Given the description of an element on the screen output the (x, y) to click on. 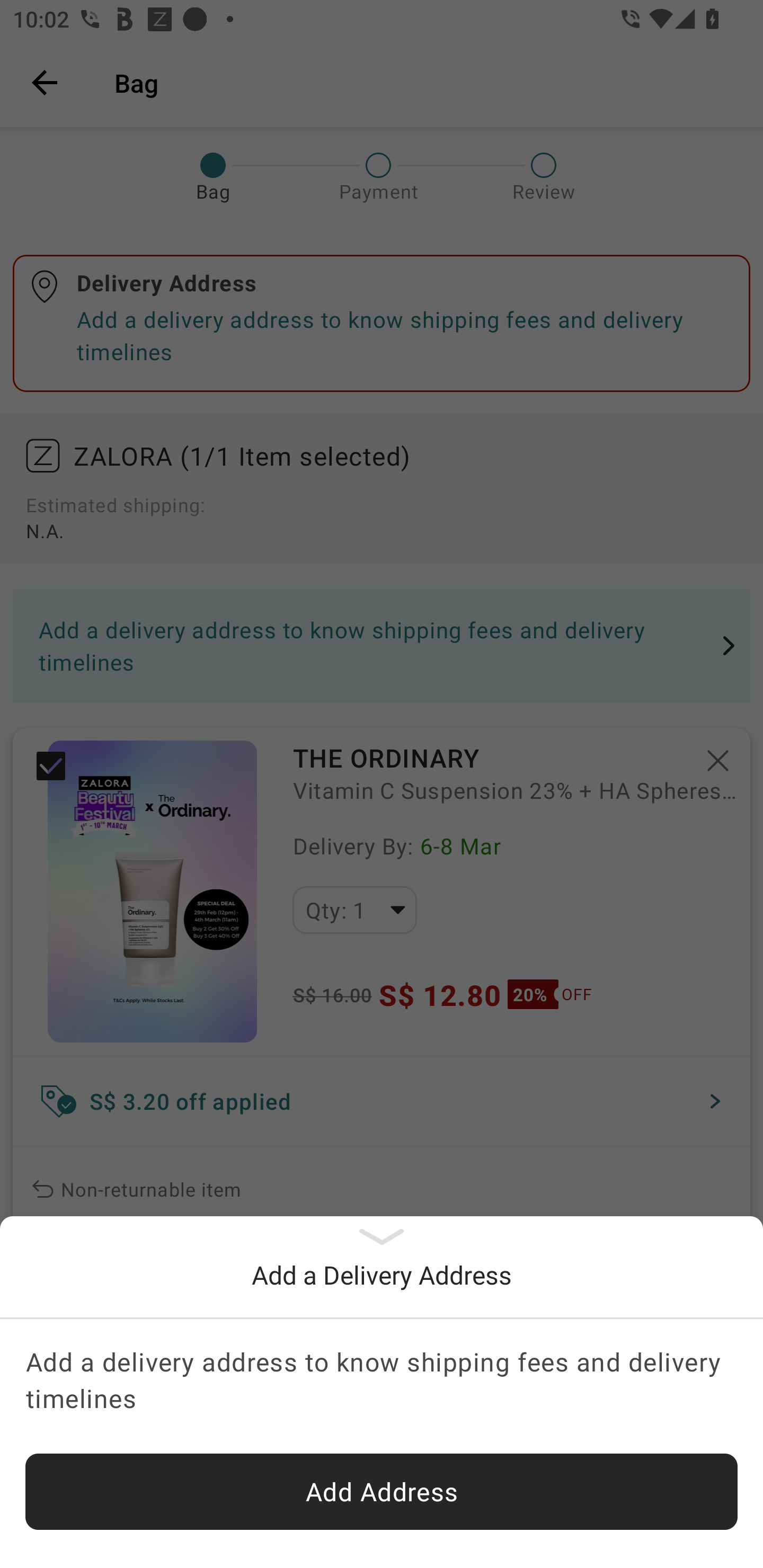
Add Address (381, 1491)
